Given the description of an element on the screen output the (x, y) to click on. 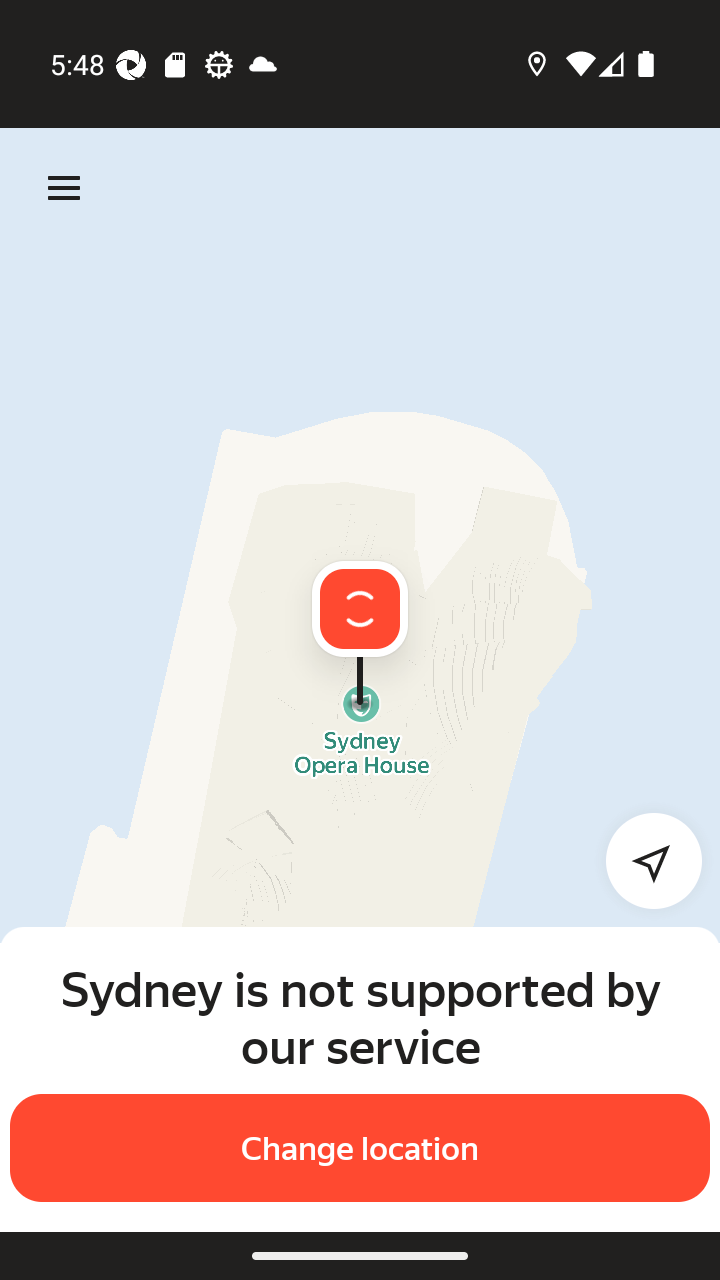
Menu Menu Menu (64, 188)
Detect my location (641, 860)
Sydney is not supported by our service (360, 1017)
Change location (359, 1147)
